Given the description of an element on the screen output the (x, y) to click on. 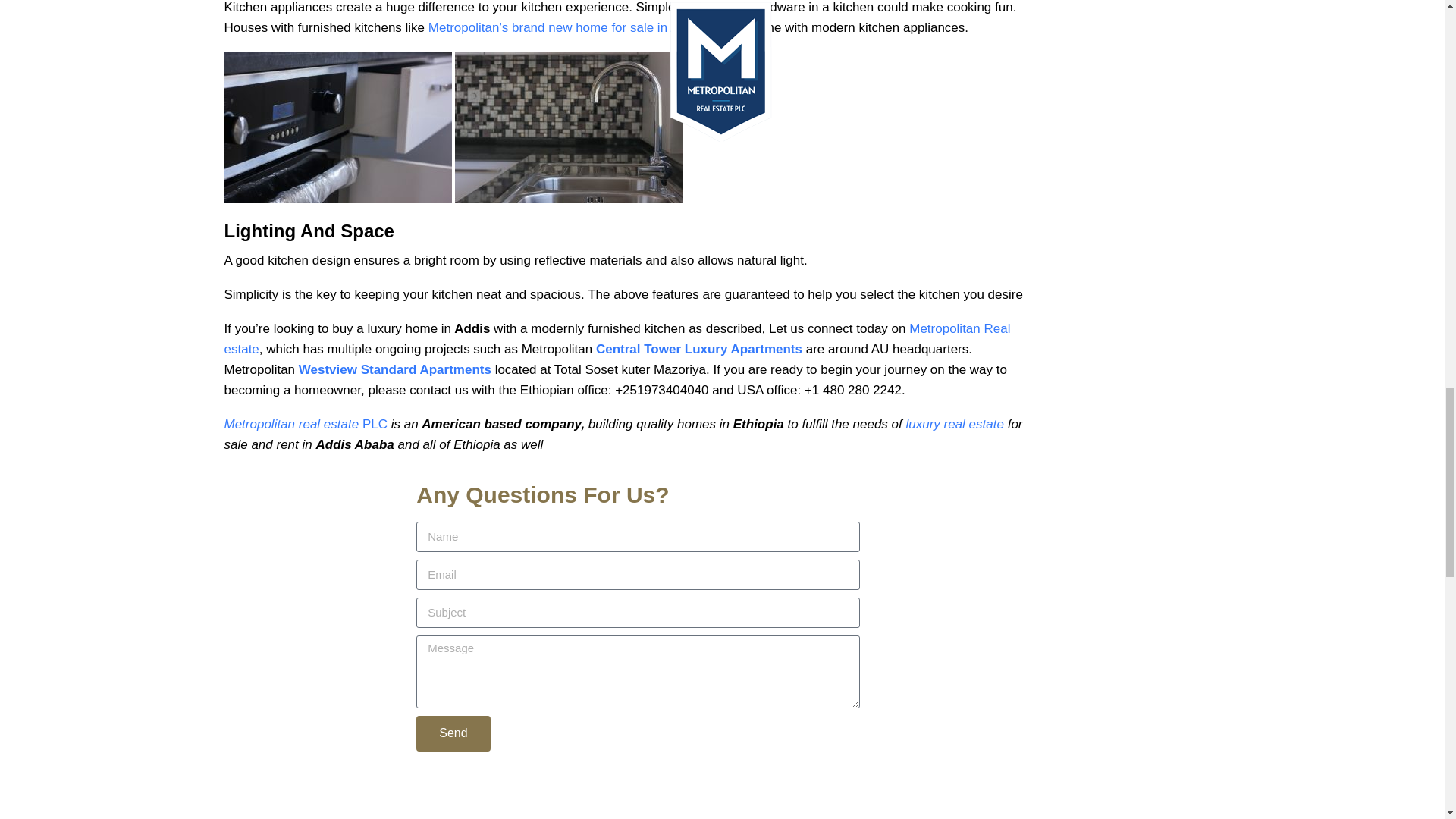
Central Tower Luxury Apartments (698, 349)
luxury real estate (956, 423)
Send (452, 733)
Metropolitan Real estate (617, 338)
Metropolitan real estate PLC (305, 423)
Westview Standard Apartments (395, 369)
